Given the description of an element on the screen output the (x, y) to click on. 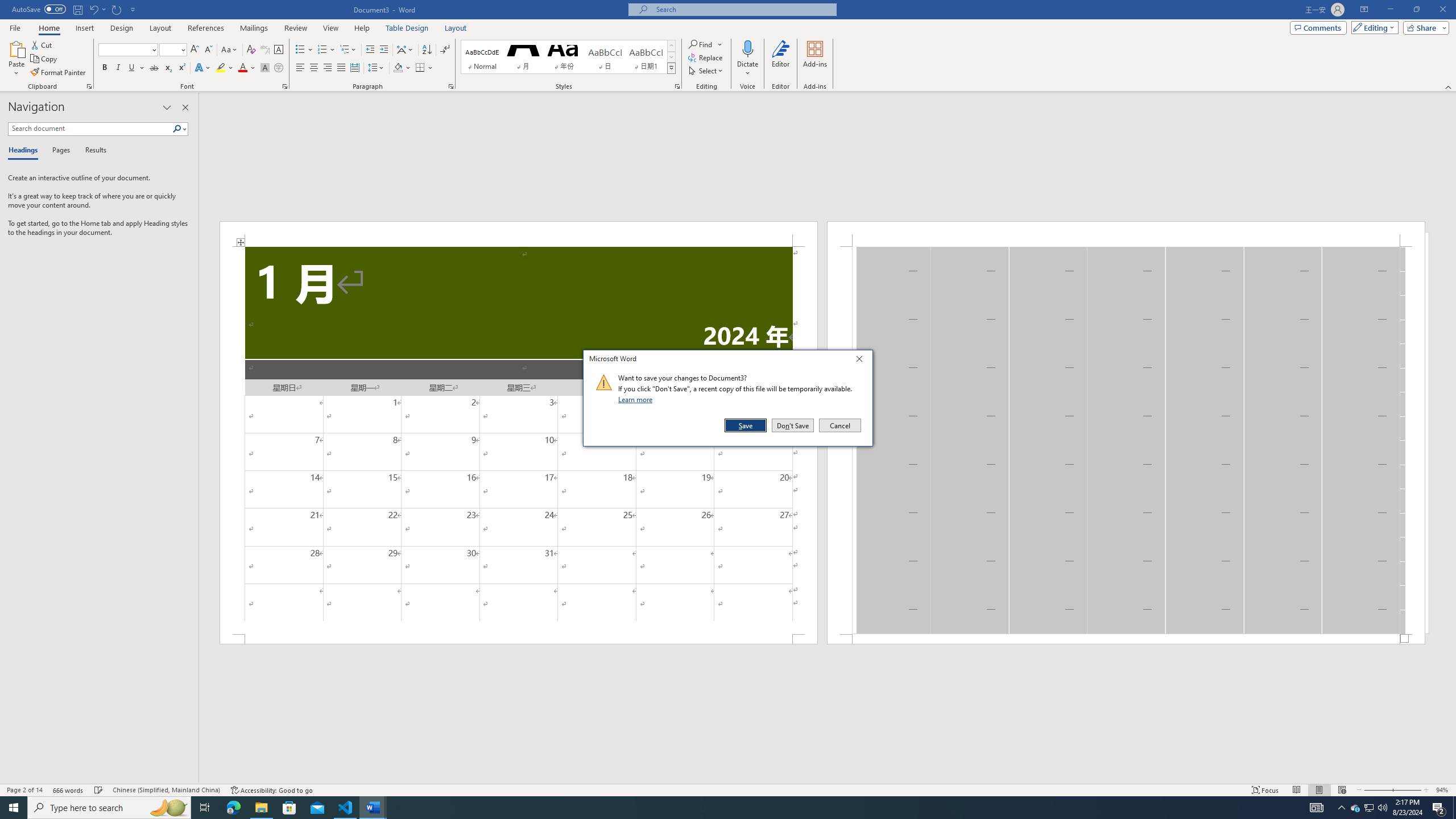
Format Painter (58, 72)
Superscript (180, 67)
Show/Hide Editing Marks (444, 49)
Header -Section 1- (1126, 233)
Microsoft Store (289, 807)
File Explorer - 1 running window (261, 807)
Learn more (636, 399)
Styles (670, 67)
Phonetic Guide... (264, 49)
Accessibility Checker Accessibility: Good to go (271, 790)
User Promoted Notification Area (1368, 807)
